Given the description of an element on the screen output the (x, y) to click on. 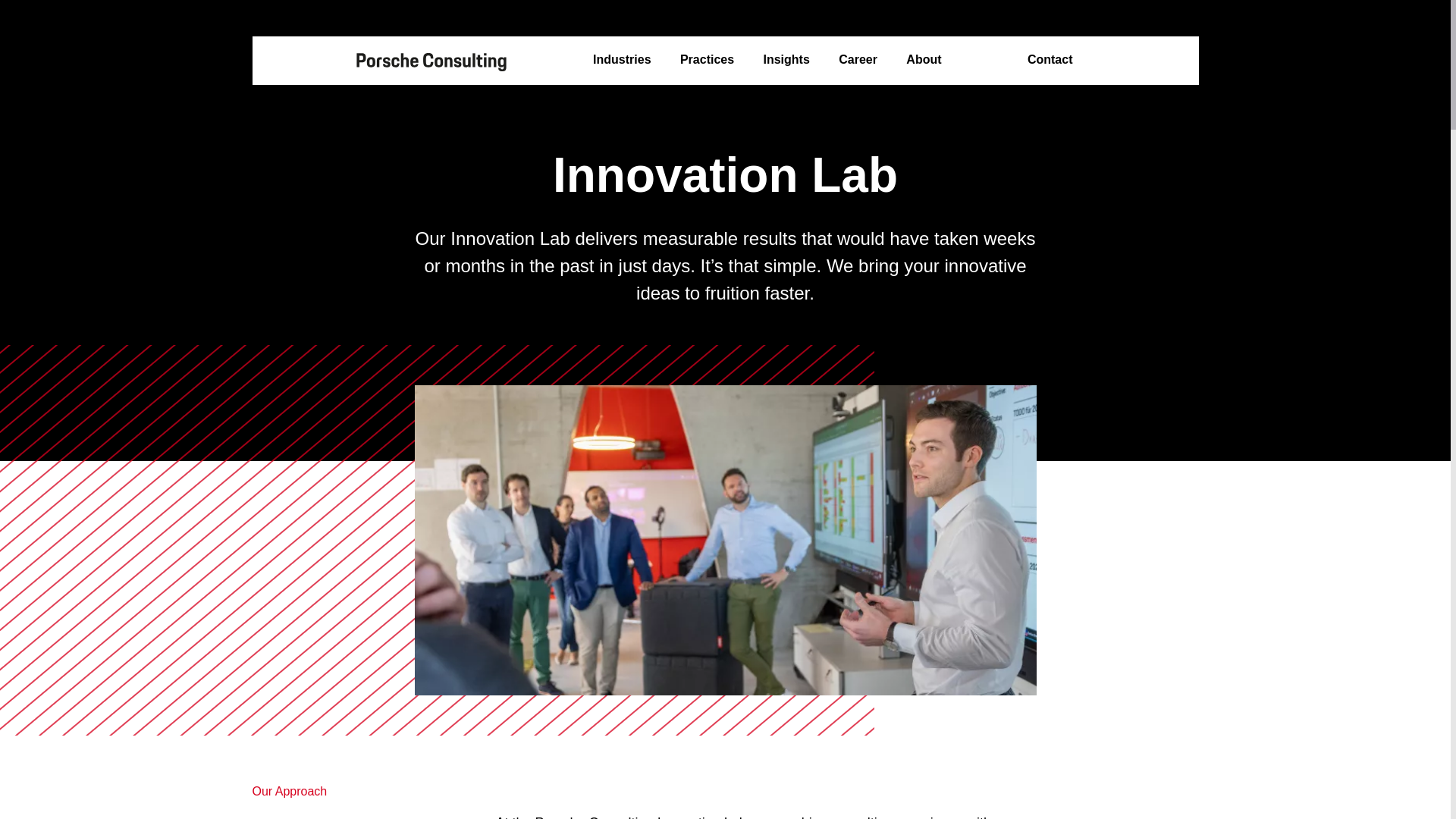
Insights (785, 60)
Industries (621, 60)
Contact (1050, 60)
Career (857, 60)
Practices (706, 60)
About (922, 60)
